Given the description of an element on the screen output the (x, y) to click on. 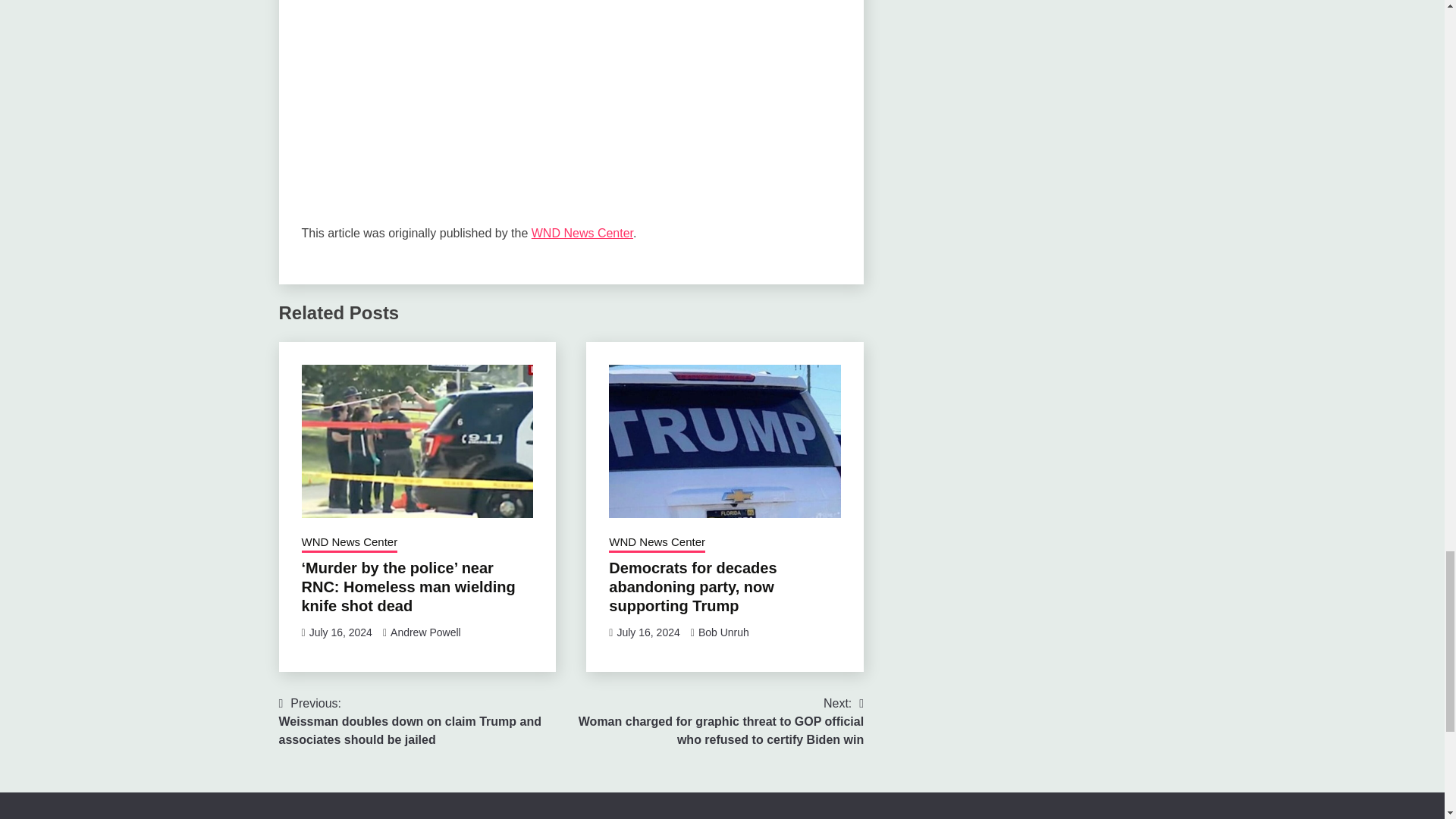
WND News Center (349, 543)
WND News Center (582, 232)
Democrats for decades abandoning party, now supporting Trump (692, 586)
Bob Unruh (723, 632)
WND News Center (656, 543)
July 16, 2024 (340, 632)
Andrew Powell (425, 632)
July 16, 2024 (647, 632)
